Given the description of an element on the screen output the (x, y) to click on. 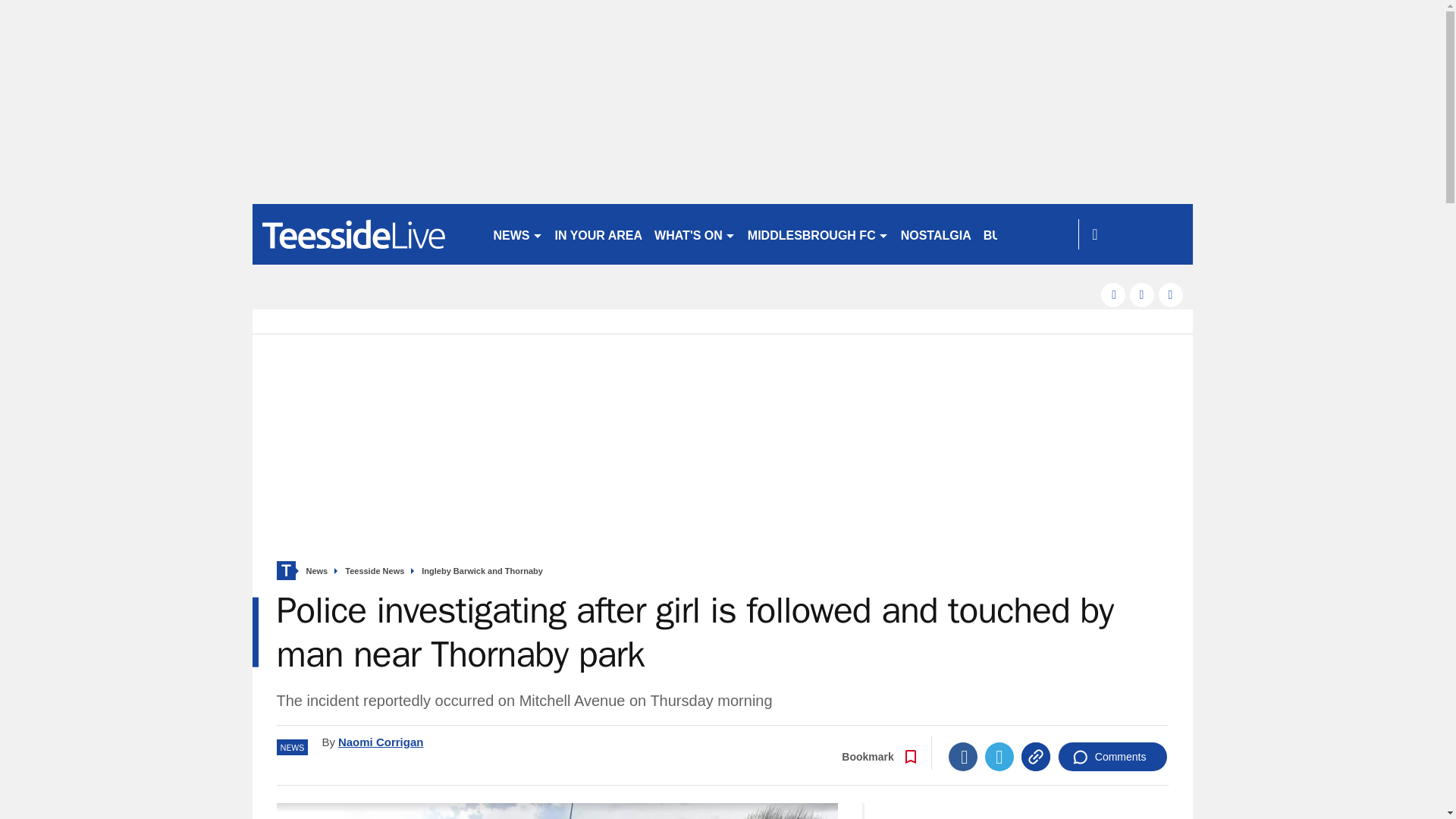
gazettelive (365, 233)
twitter (1141, 294)
IN YOUR AREA (598, 233)
facebook (1112, 294)
Twitter (999, 756)
BUSINESS (1013, 233)
MIDDLESBROUGH FC (818, 233)
Comments (1112, 756)
Facebook (962, 756)
WHAT'S ON (694, 233)
